Given the description of an element on the screen output the (x, y) to click on. 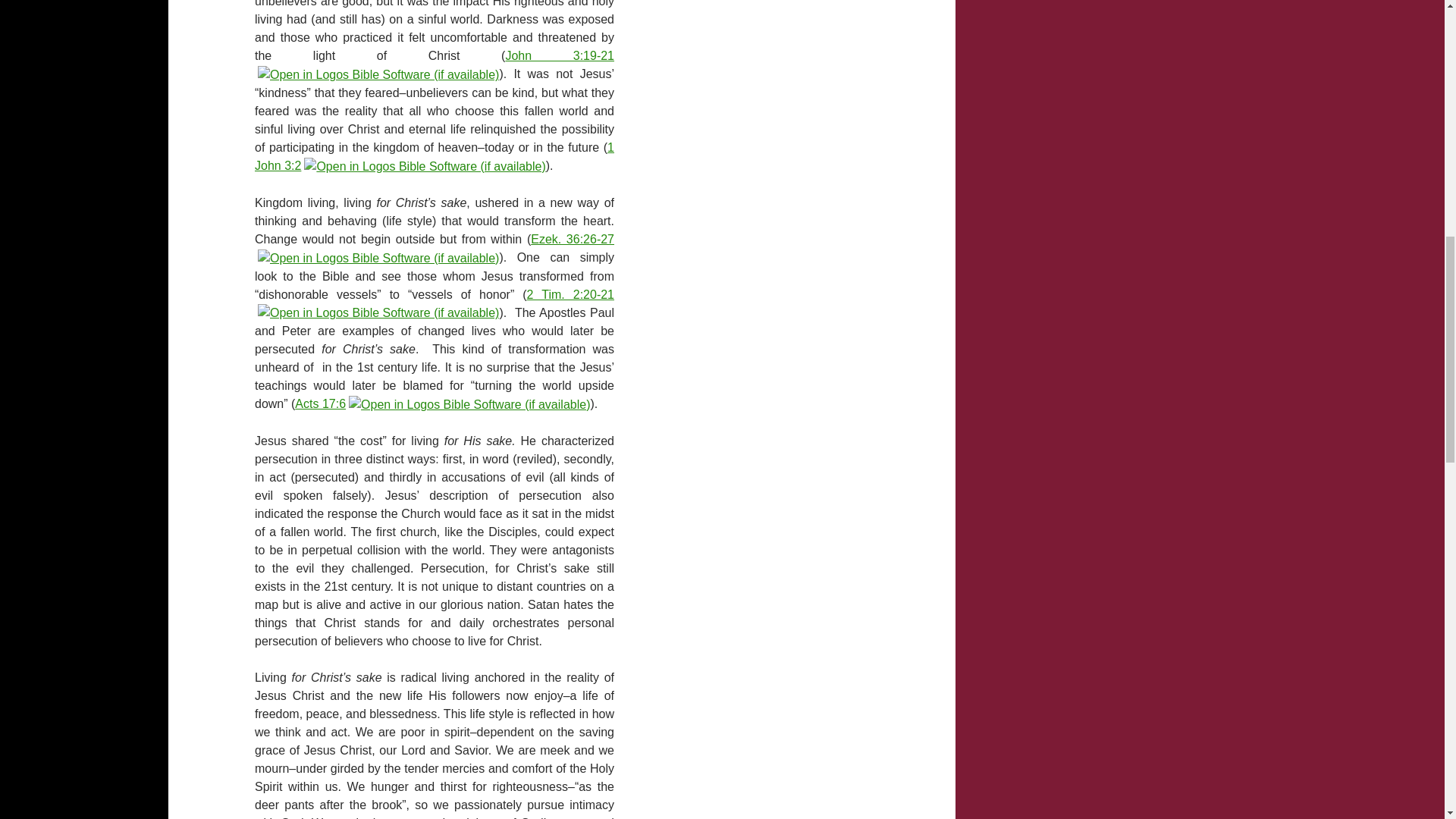
John 3:19-21 (559, 55)
